Given the description of an element on the screen output the (x, y) to click on. 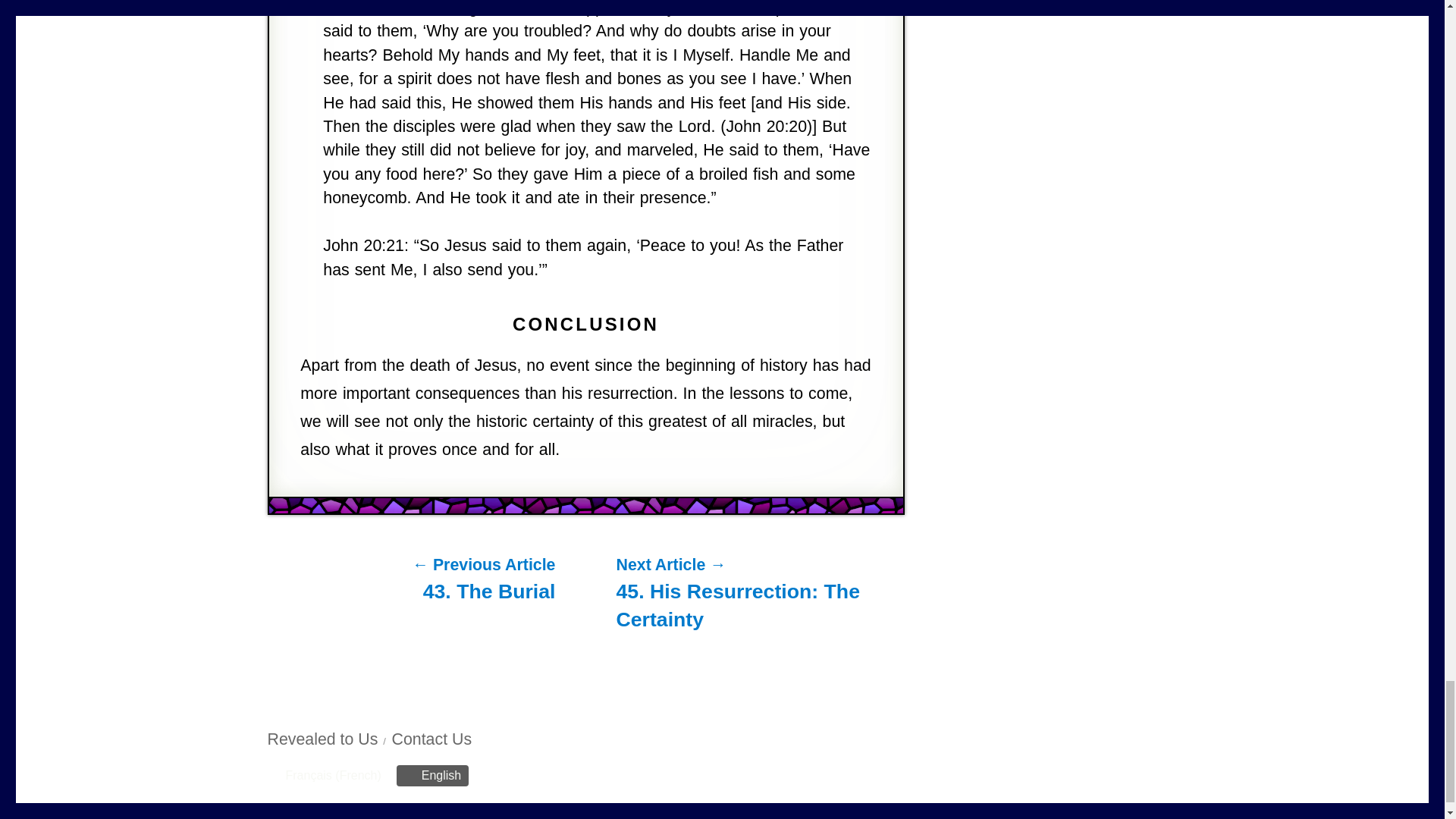
Contact Us (431, 739)
English (432, 775)
Revealed to Us (321, 739)
